Given the description of an element on the screen output the (x, y) to click on. 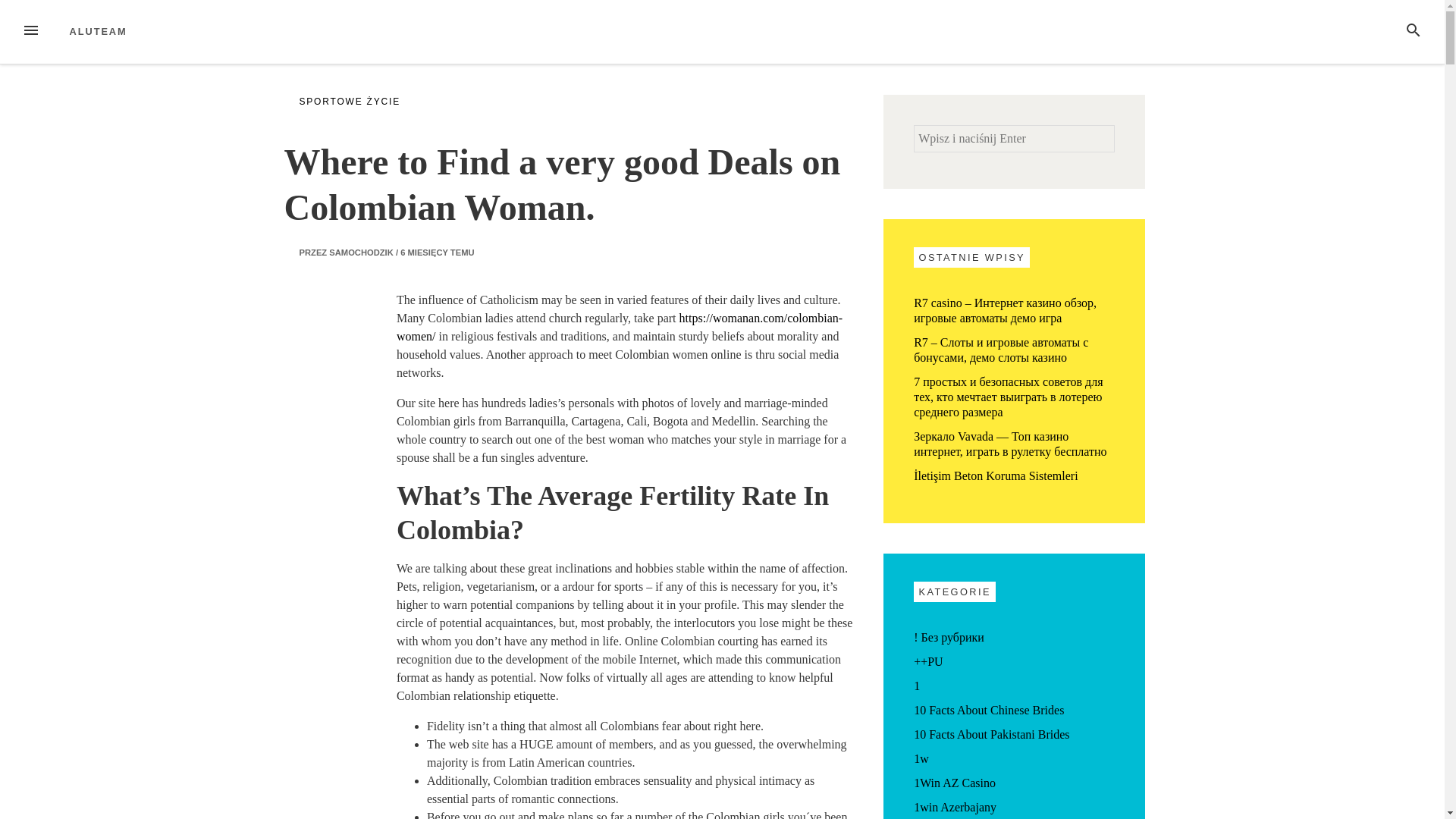
SAMOCHODZIK (361, 252)
Szukaj (32, 13)
1w (921, 758)
1win Azerbajany (954, 807)
10 Facts About Pakistani Brides (991, 734)
SZUKAJ (1413, 31)
MENU (30, 31)
ALUTEAM (98, 30)
Szukaj: (1014, 138)
10 Facts About Chinese Brides (989, 709)
